Given the description of an element on the screen output the (x, y) to click on. 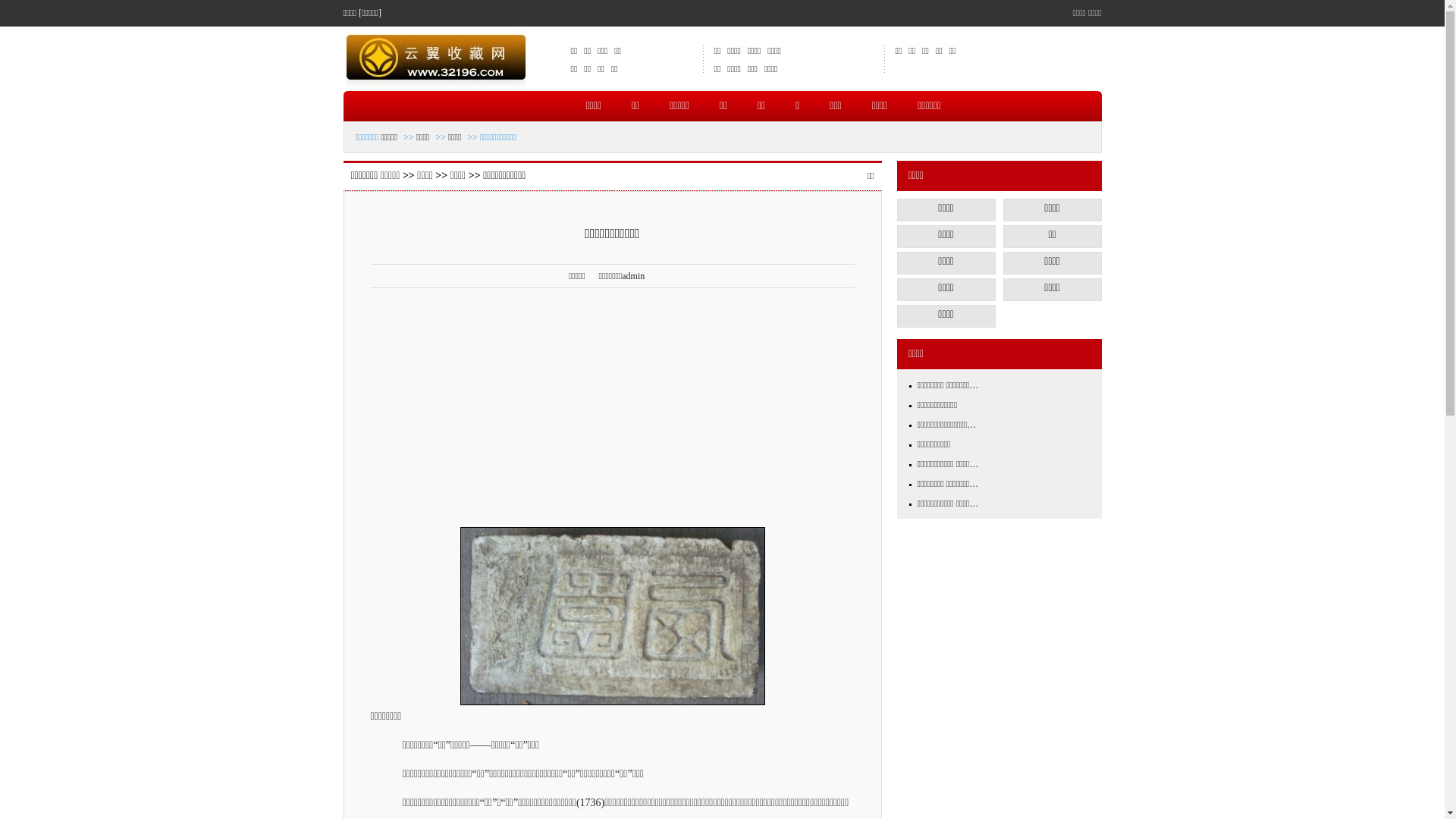
Advertisement Element type: hover (611, 409)
